Given the description of an element on the screen output the (x, y) to click on. 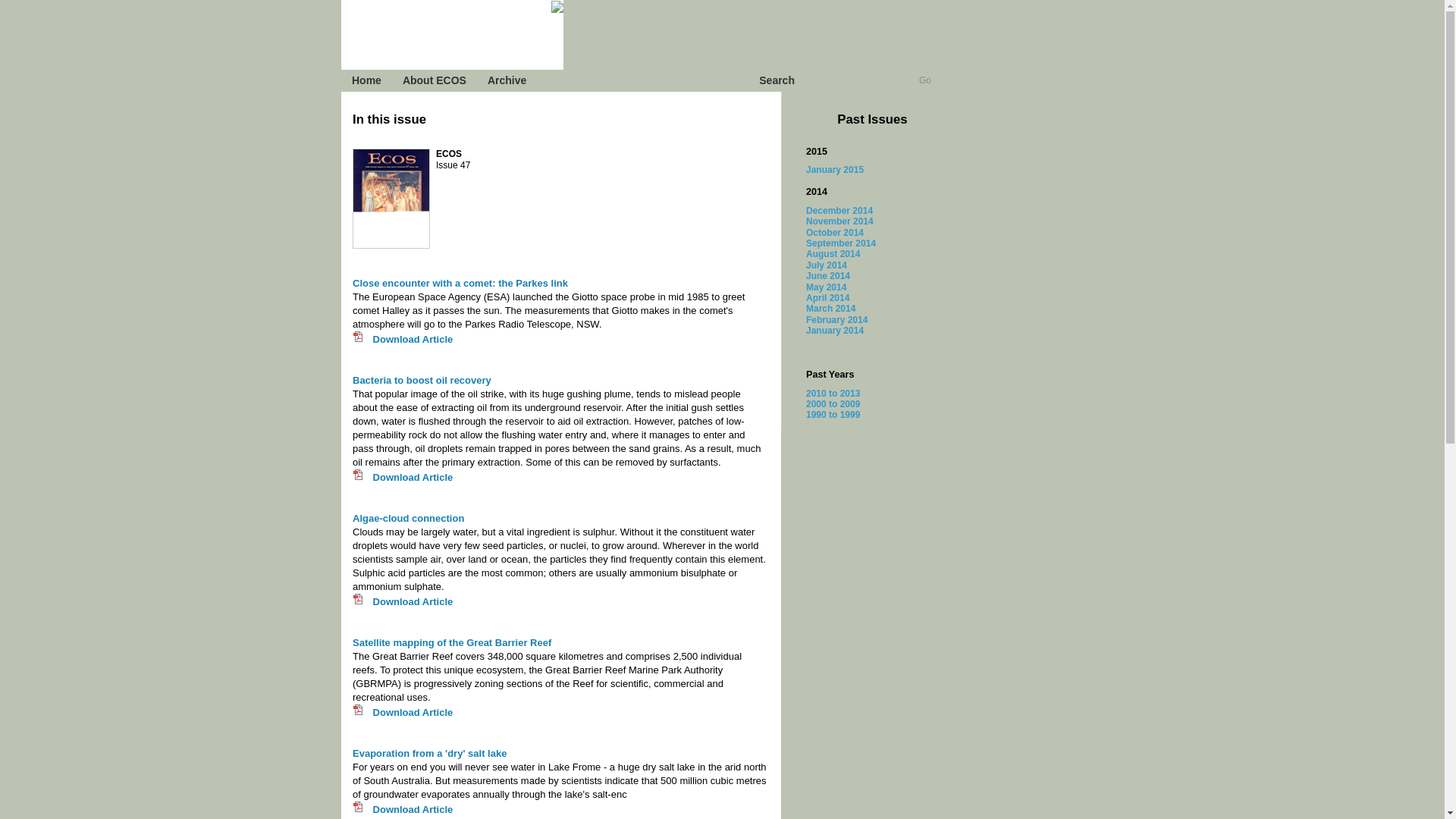
Download Article (410, 601)
February 2014 (836, 319)
December 2014 (839, 210)
Bacteria to boost oil recovery (422, 379)
Evaporation from a 'dry' salt lake (429, 753)
Algae-cloud connection (408, 518)
Download Article (410, 808)
July 2014 (826, 265)
May 2014 (825, 286)
Download Article (410, 477)
